Given the description of an element on the screen output the (x, y) to click on. 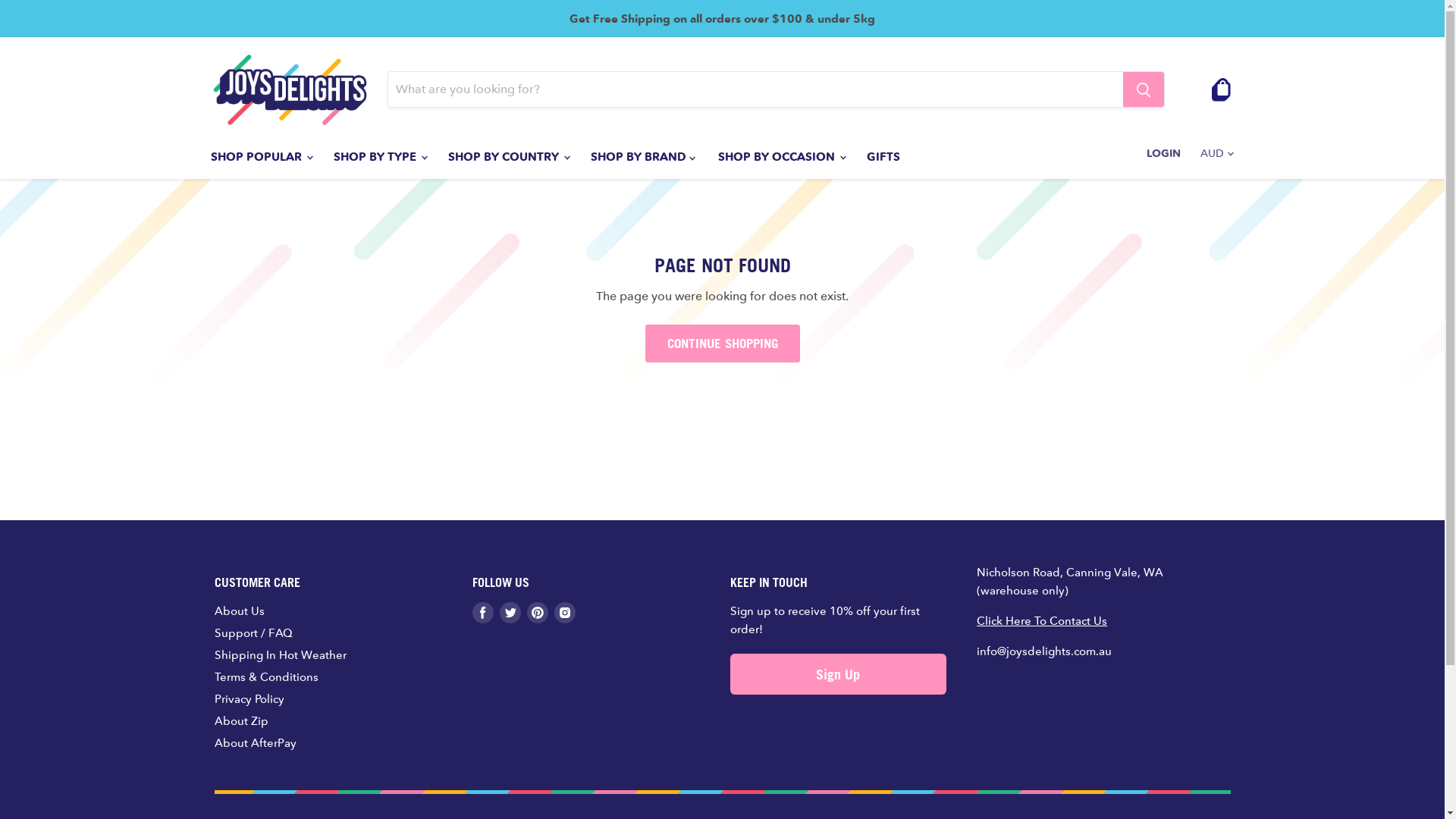
LOGIN Element type: text (1163, 153)
Find us on Twitter Element type: text (509, 612)
Terms & Conditions Element type: text (265, 676)
GIFTS Element type: text (883, 156)
Find us on Instagram Element type: text (563, 612)
Find us on Facebook Element type: text (481, 612)
About Us Element type: text (238, 610)
Sign Up Element type: text (837, 673)
CONTINUE SHOPPING Element type: text (721, 343)
Shipping In Hot Weather Element type: text (279, 654)
Privacy Policy Element type: text (248, 698)
Click Here To Contact Us Element type: text (1041, 620)
About Zip Element type: text (240, 720)
View cart Element type: text (1221, 89)
Find us on Pinterest Element type: text (536, 612)
Support / FAQ Element type: text (252, 632)
About AfterPay Element type: text (254, 742)
